Given the description of an element on the screen output the (x, y) to click on. 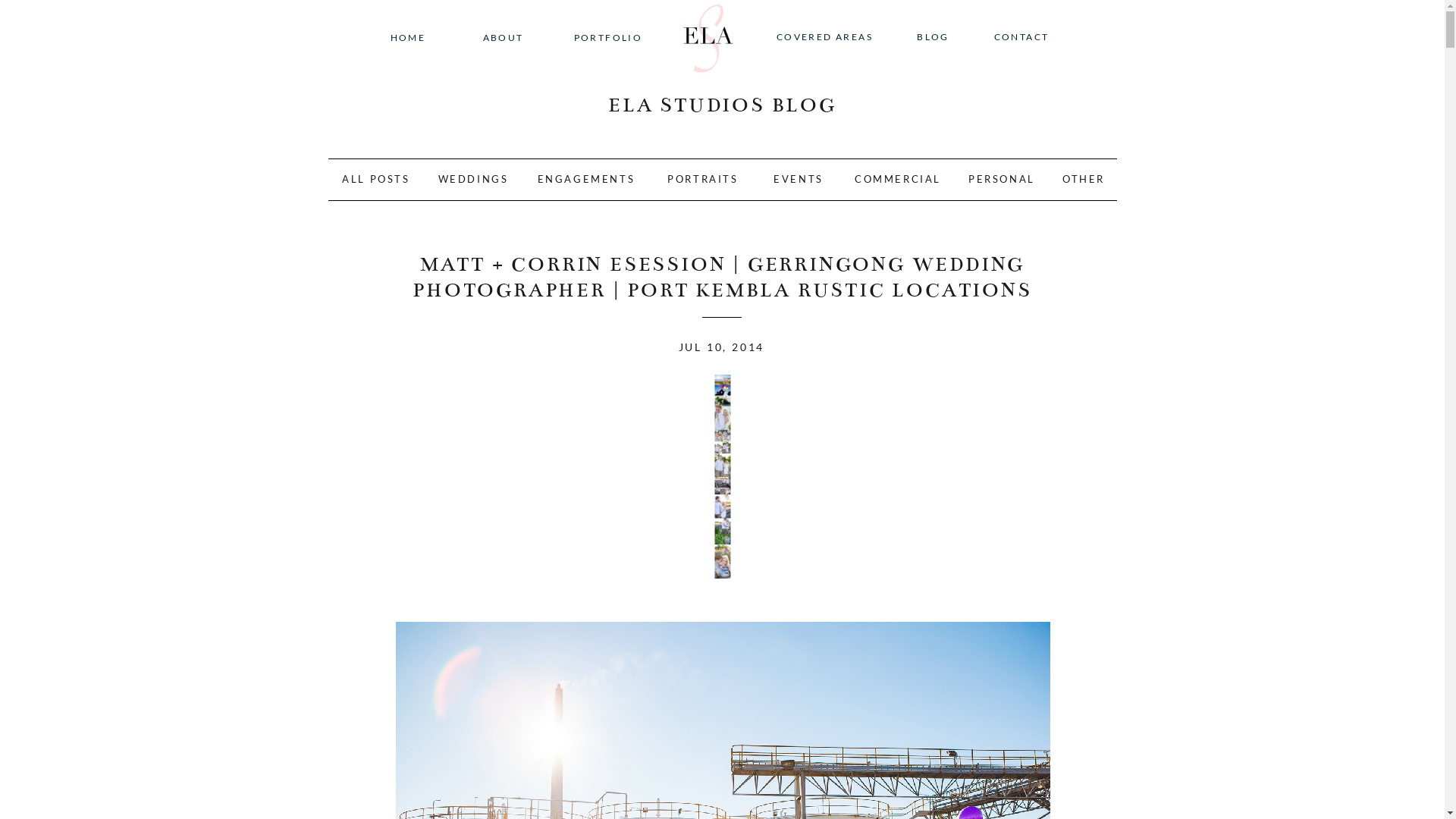
BLOG Element type: text (933, 38)
CONTACT Element type: text (1021, 38)
COMMERCIAL Element type: text (898, 180)
COVERED AREAS Element type: text (824, 38)
ELA STUDIOS BLOG Element type: text (721, 107)
PORTRAITS Element type: text (702, 180)
ALL POSTS Element type: text (376, 180)
HOME Element type: text (407, 38)
ABOUT Element type: text (503, 38)
EVENTS Element type: text (798, 180)
WEDDINGS Element type: text (473, 180)
PORTFOLIO Element type: text (607, 38)
PERSONAL Element type: text (1001, 180)
OTHER Element type: text (1083, 180)
ENGAGEMENTS Element type: text (585, 180)
